Given the description of an element on the screen output the (x, y) to click on. 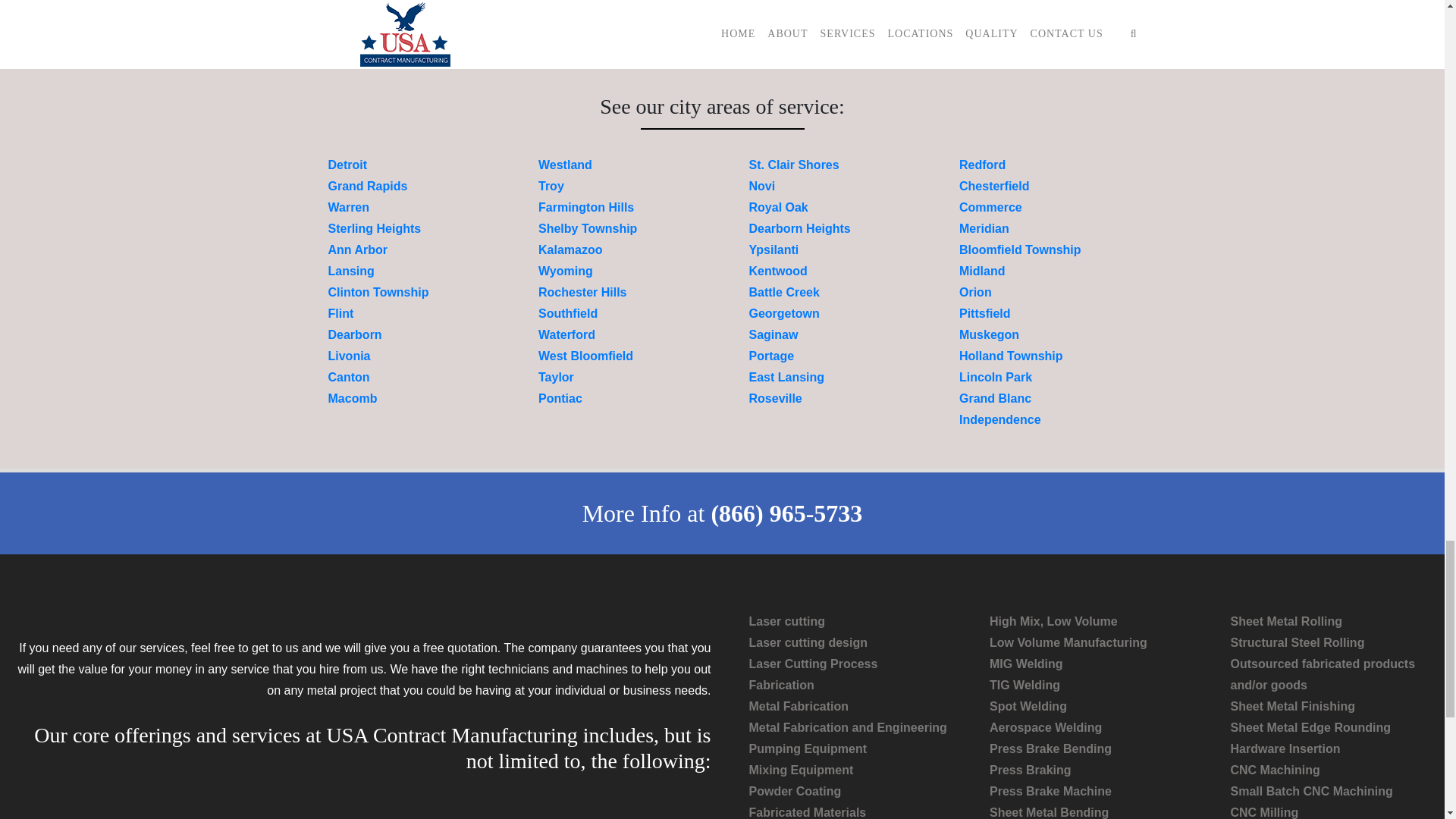
Taylor (555, 377)
Detroit (346, 164)
giving us a call (957, 40)
Farmington Hills (585, 206)
Livonia (348, 355)
Rochester Hills (582, 291)
Kalamazoo (570, 249)
Waterford (566, 334)
Westland (565, 164)
Ann Arbor (357, 249)
